Given the description of an element on the screen output the (x, y) to click on. 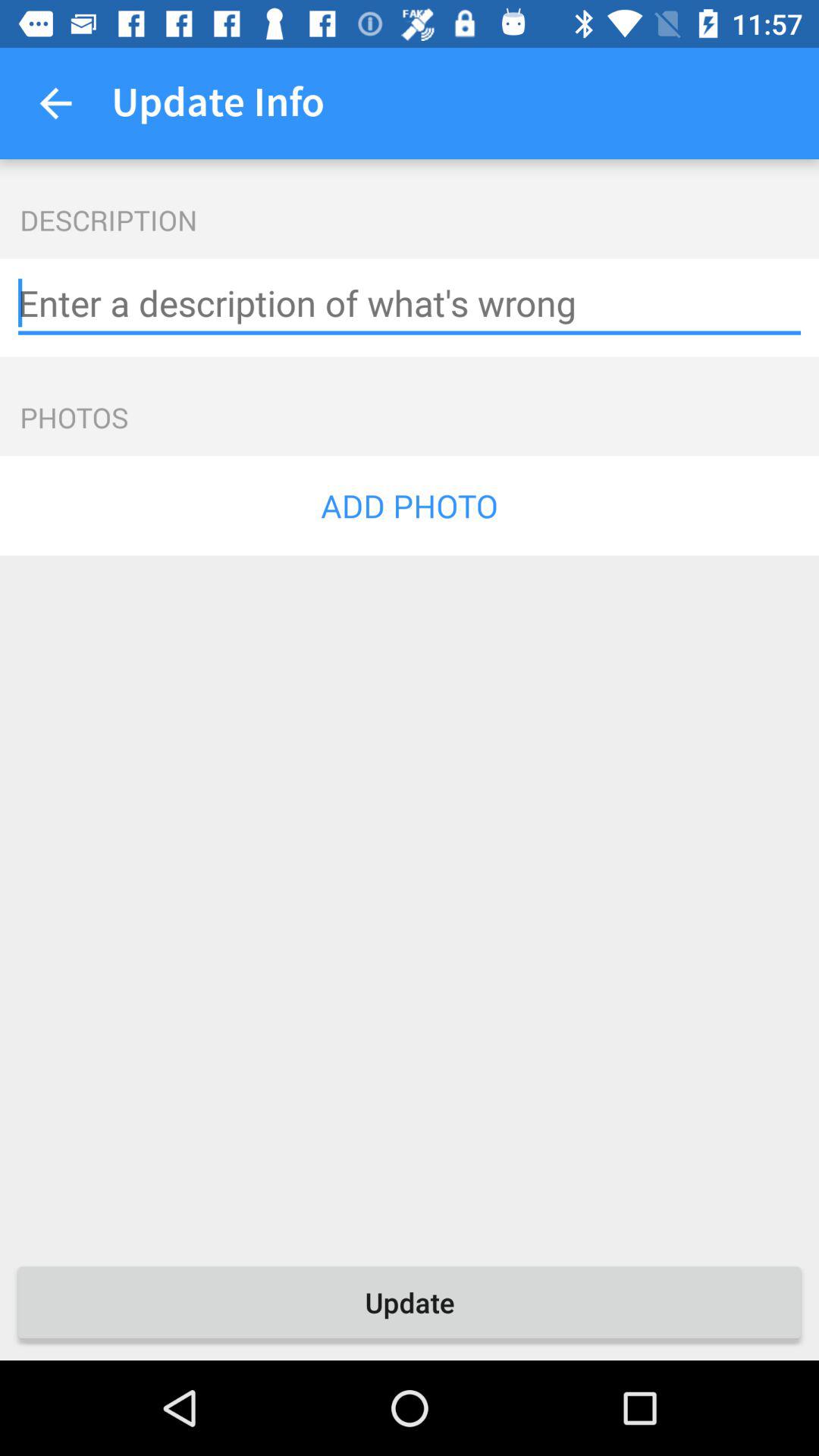
text box for photo description (409, 303)
